Given the description of an element on the screen output the (x, y) to click on. 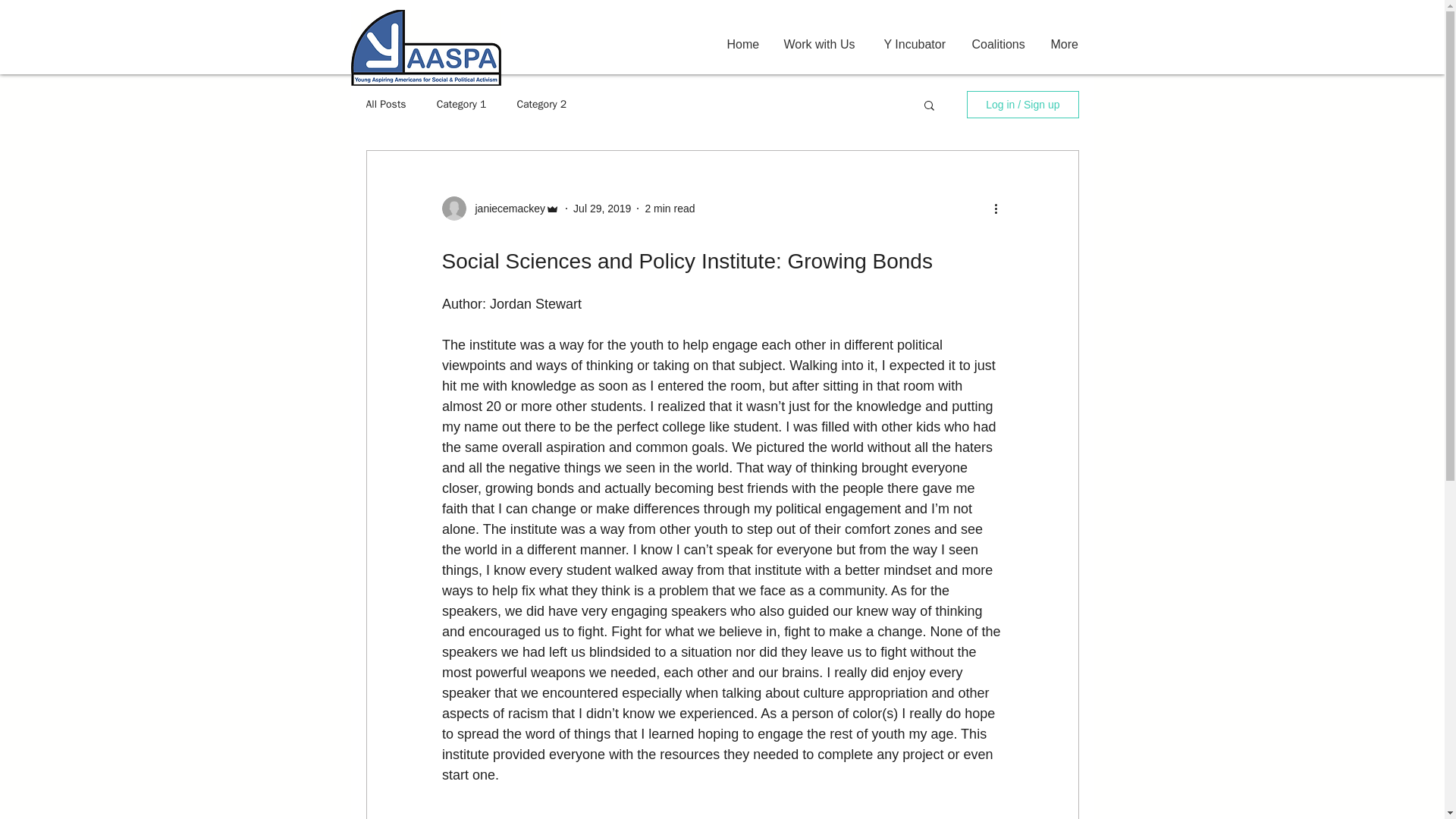
Y Incubator (915, 44)
Coalitions (999, 44)
Category 2 (541, 104)
Category 1 (461, 104)
2 min read (669, 207)
Jul 29, 2019 (601, 207)
Work with Us (821, 44)
All Posts (385, 104)
janiecemackey (504, 207)
Home (744, 44)
